Given the description of an element on the screen output the (x, y) to click on. 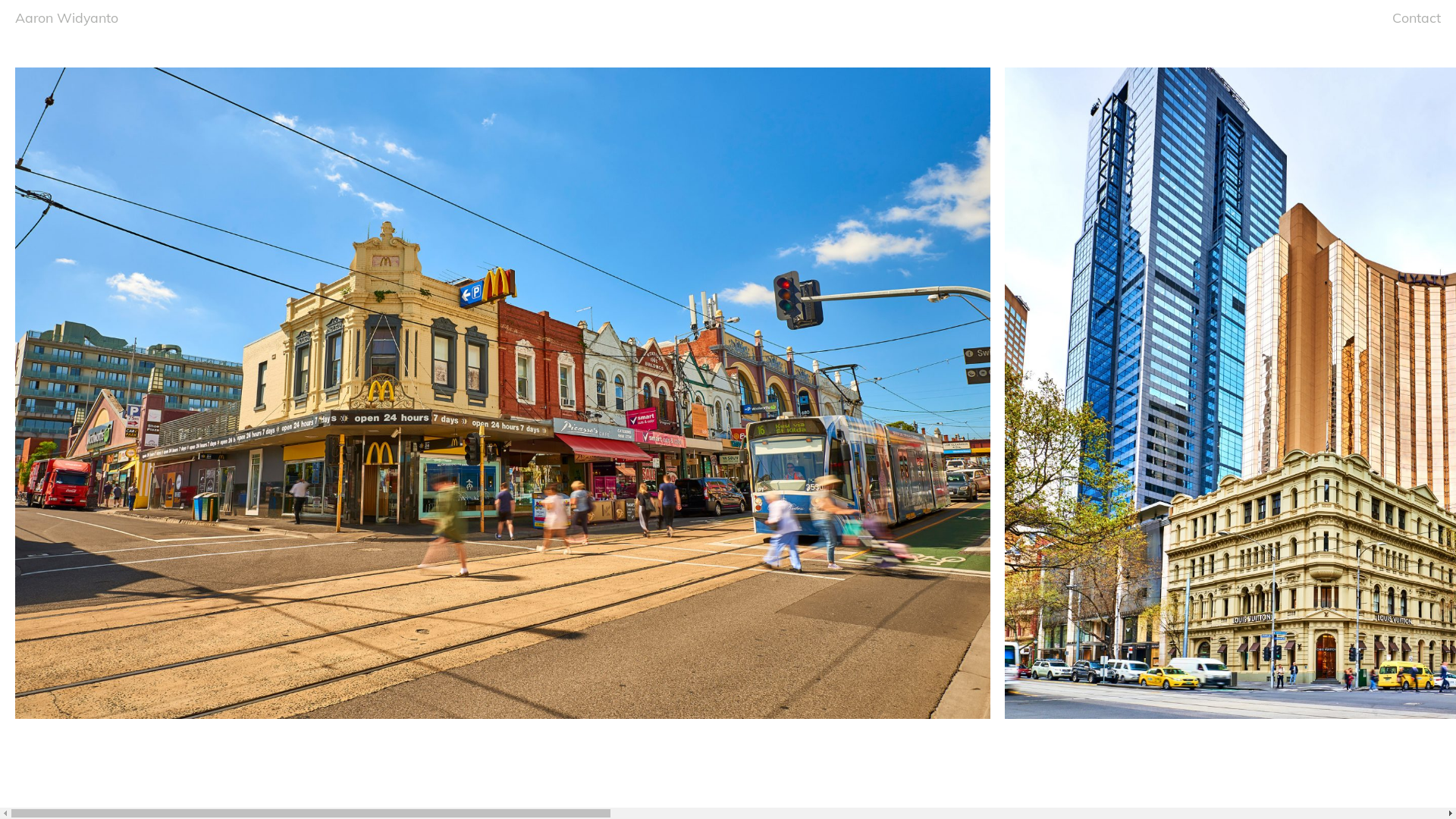
Contact Element type: text (1416, 17)
Skip to content Element type: text (309, 6)
Aaron Widyanto Element type: text (66, 17)
